Given the description of an element on the screen output the (x, y) to click on. 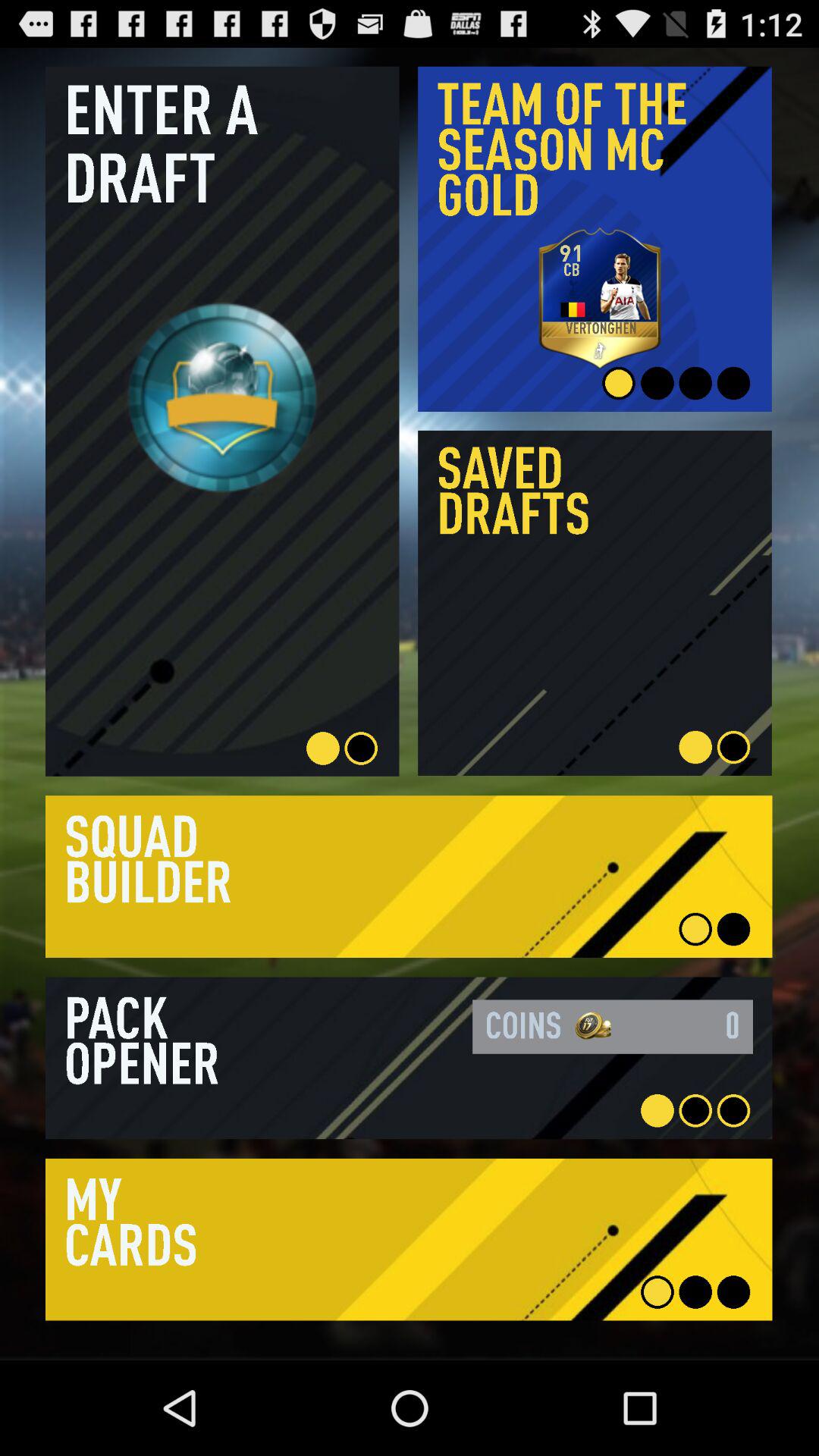
click the button in squad builder (408, 876)
